Given the description of an element on the screen output the (x, y) to click on. 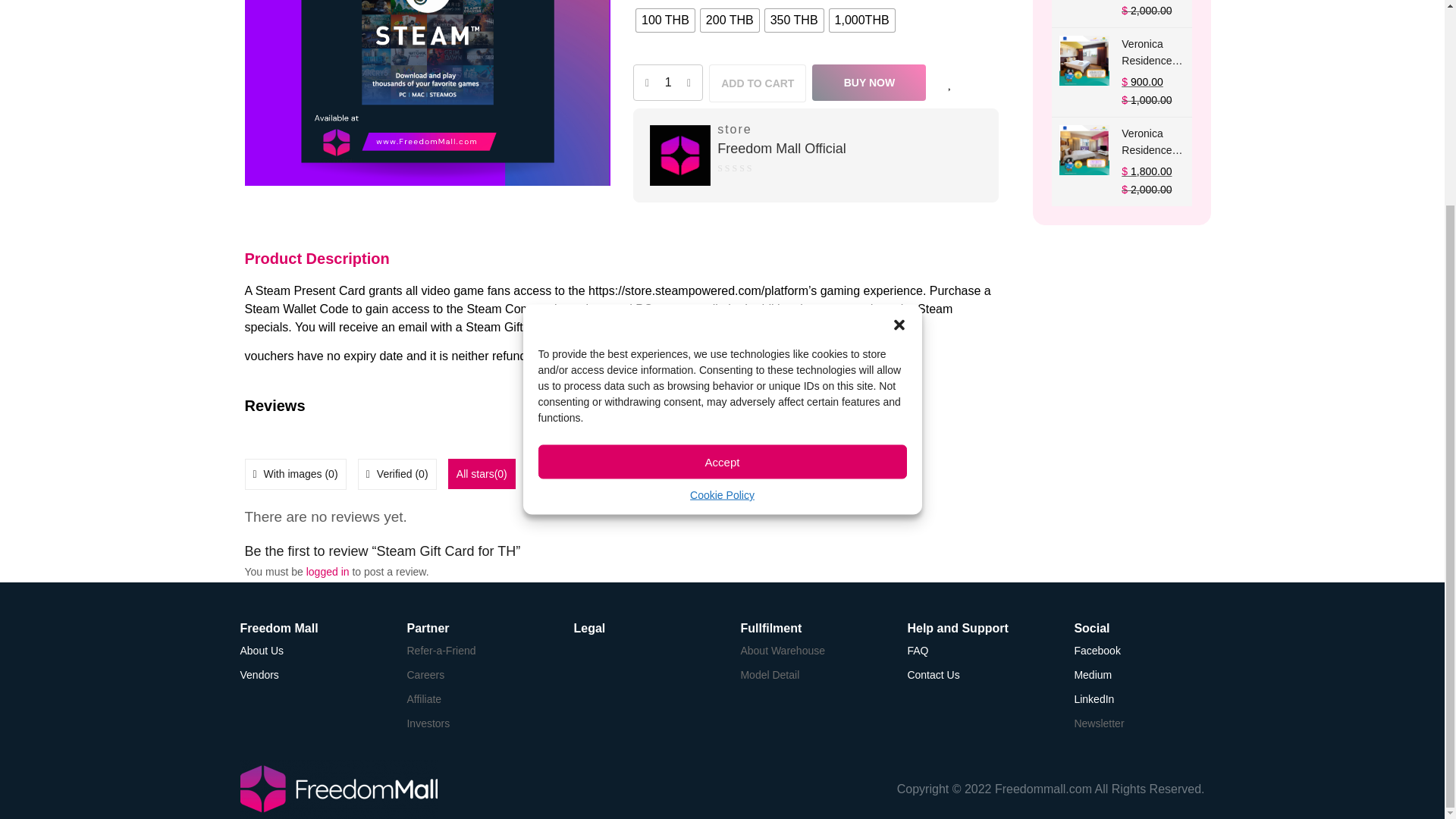
Cookie Policy (722, 230)
Logo FreedomMall (338, 788)
200 THB (729, 20)
1 (668, 82)
350 THB (794, 20)
Accept (722, 196)
Wishlist (949, 82)
1,000THB (862, 20)
Qty (668, 82)
No reviews yet! (745, 170)
100 THB (665, 20)
1 (427, 92)
